Given the description of an element on the screen output the (x, y) to click on. 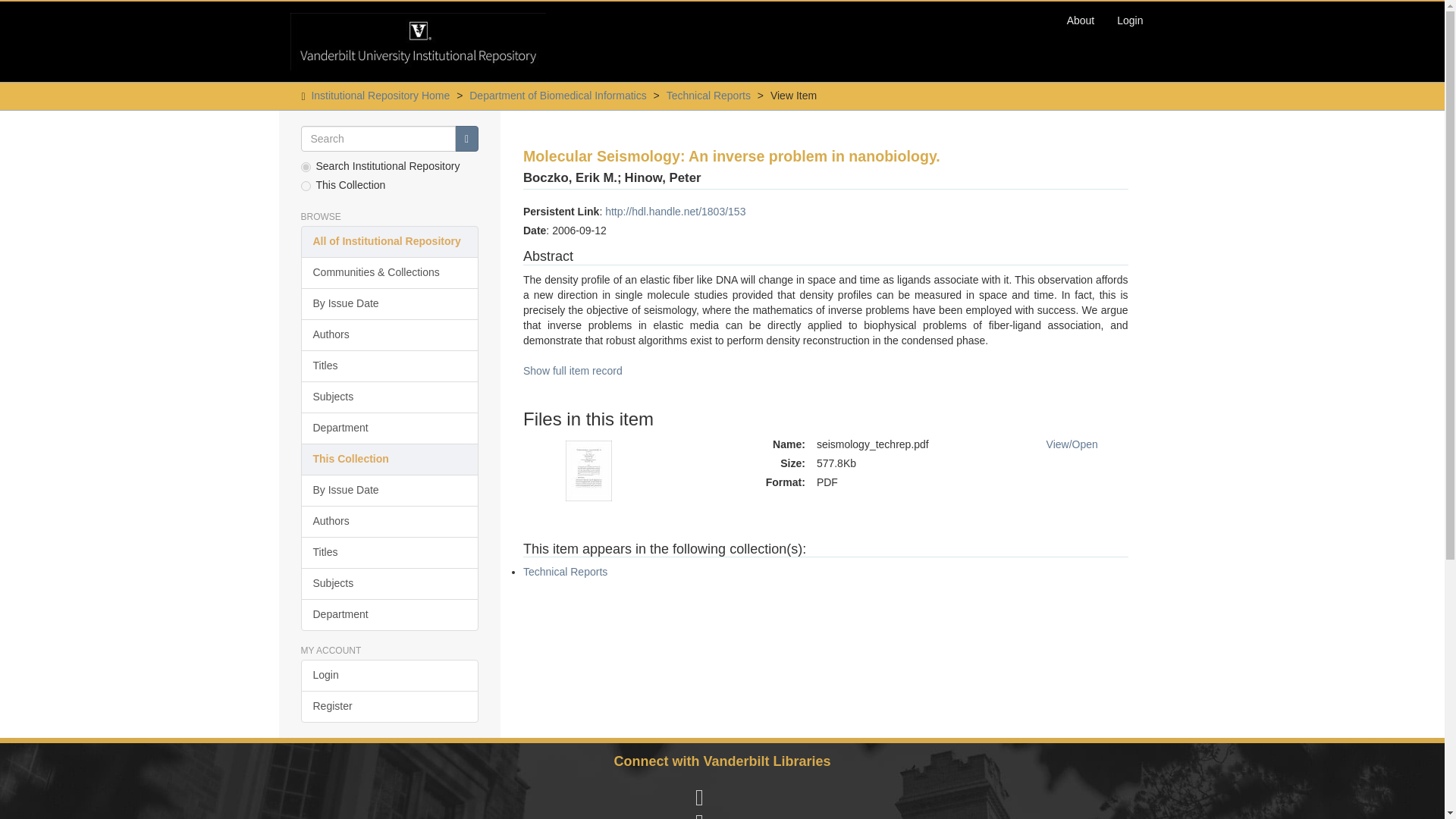
Subjects (389, 397)
follow us on twitter (699, 815)
Connect with Vanderbilt Libraries (720, 761)
follow us on facebook (699, 797)
Technical Reports (708, 95)
This Collection (389, 459)
By Issue Date (389, 304)
Department (389, 614)
Department (389, 428)
Department of Biomedical Informatics (557, 95)
Go (466, 138)
Authors (389, 335)
Show full item record (572, 370)
Authors (389, 521)
Institutional Repository Home (380, 95)
